Given the description of an element on the screen output the (x, y) to click on. 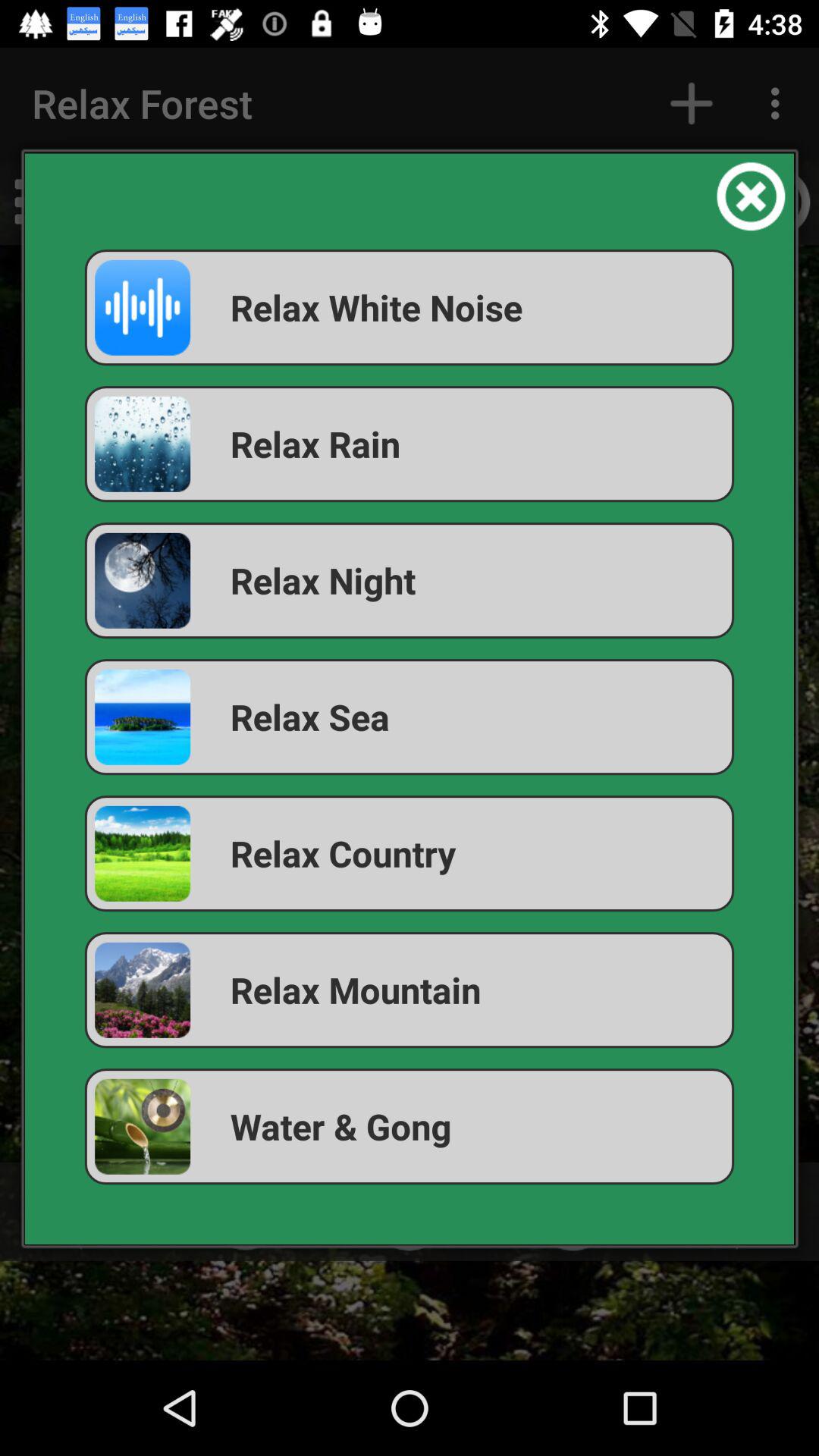
jump until the water & gong (409, 1126)
